Given the description of an element on the screen output the (x, y) to click on. 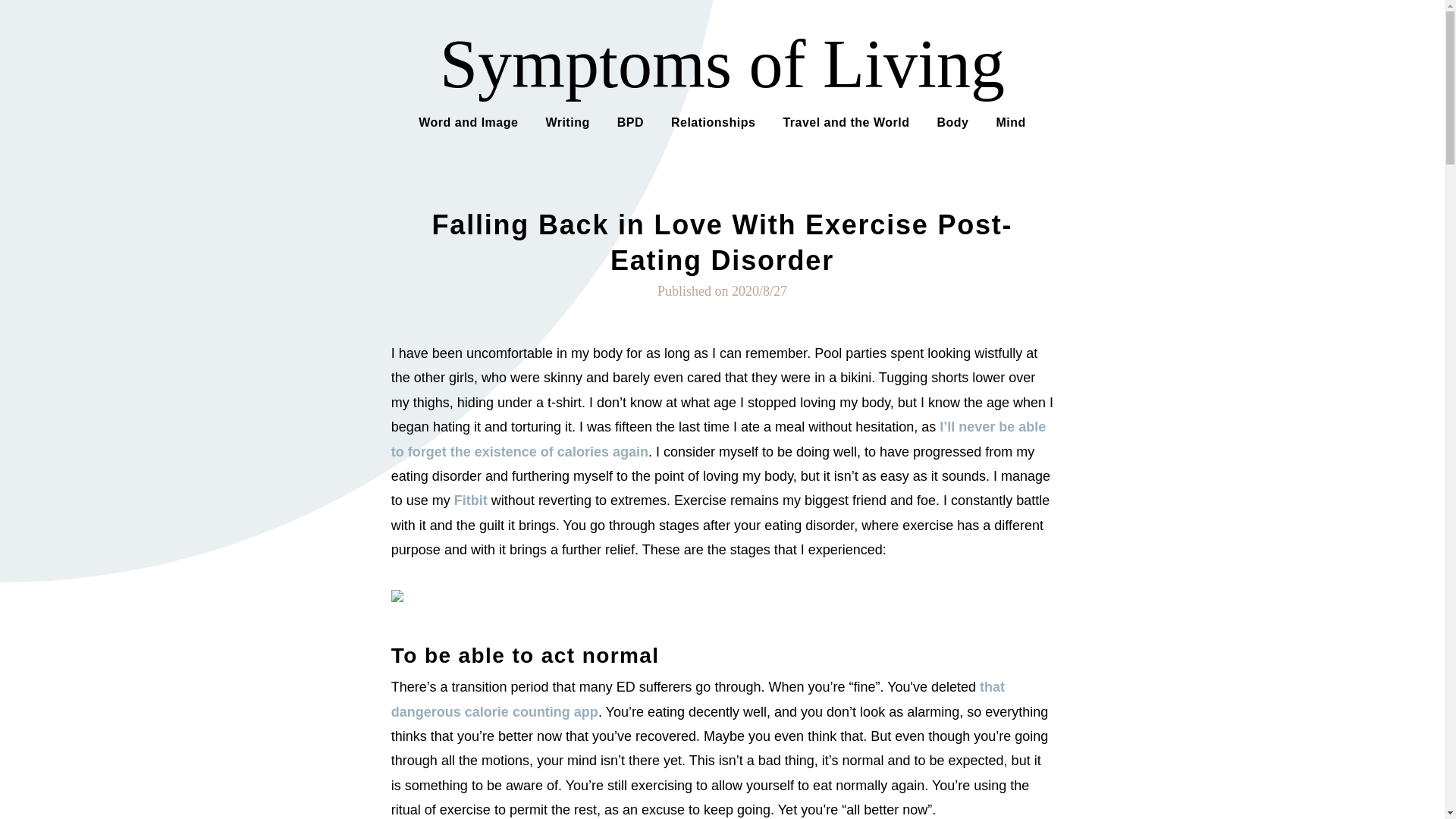
Travel and the World (845, 122)
Writing (566, 122)
Fitbit (470, 500)
Mind (1010, 122)
Symptoms of Living (722, 64)
Word and Image (468, 122)
Relationships (713, 122)
BPD (630, 122)
Body (951, 122)
Symptoms of Living (722, 64)
